Given the description of an element on the screen output the (x, y) to click on. 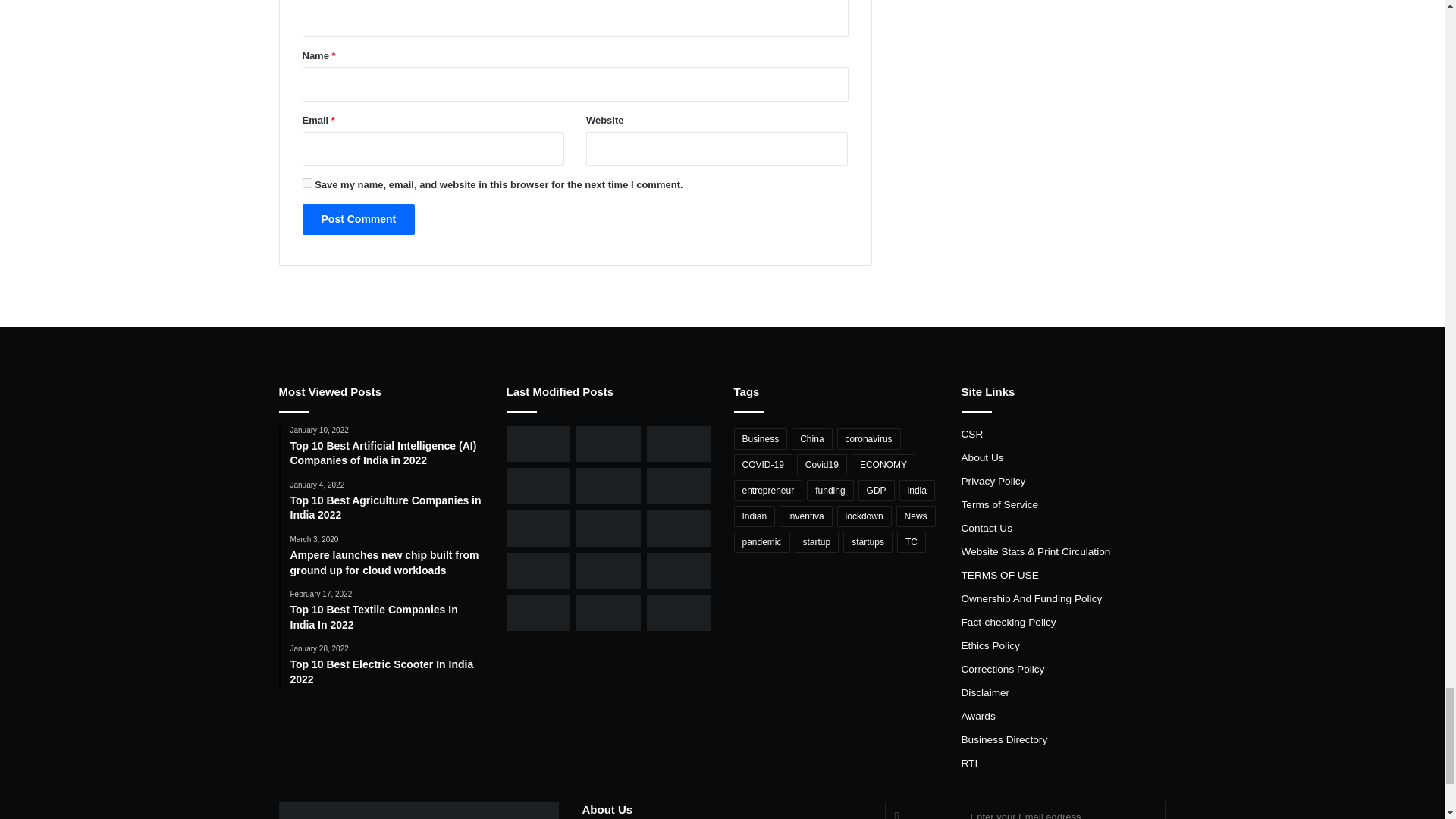
yes (306, 183)
Post Comment (357, 219)
